Given the description of an element on the screen output the (x, y) to click on. 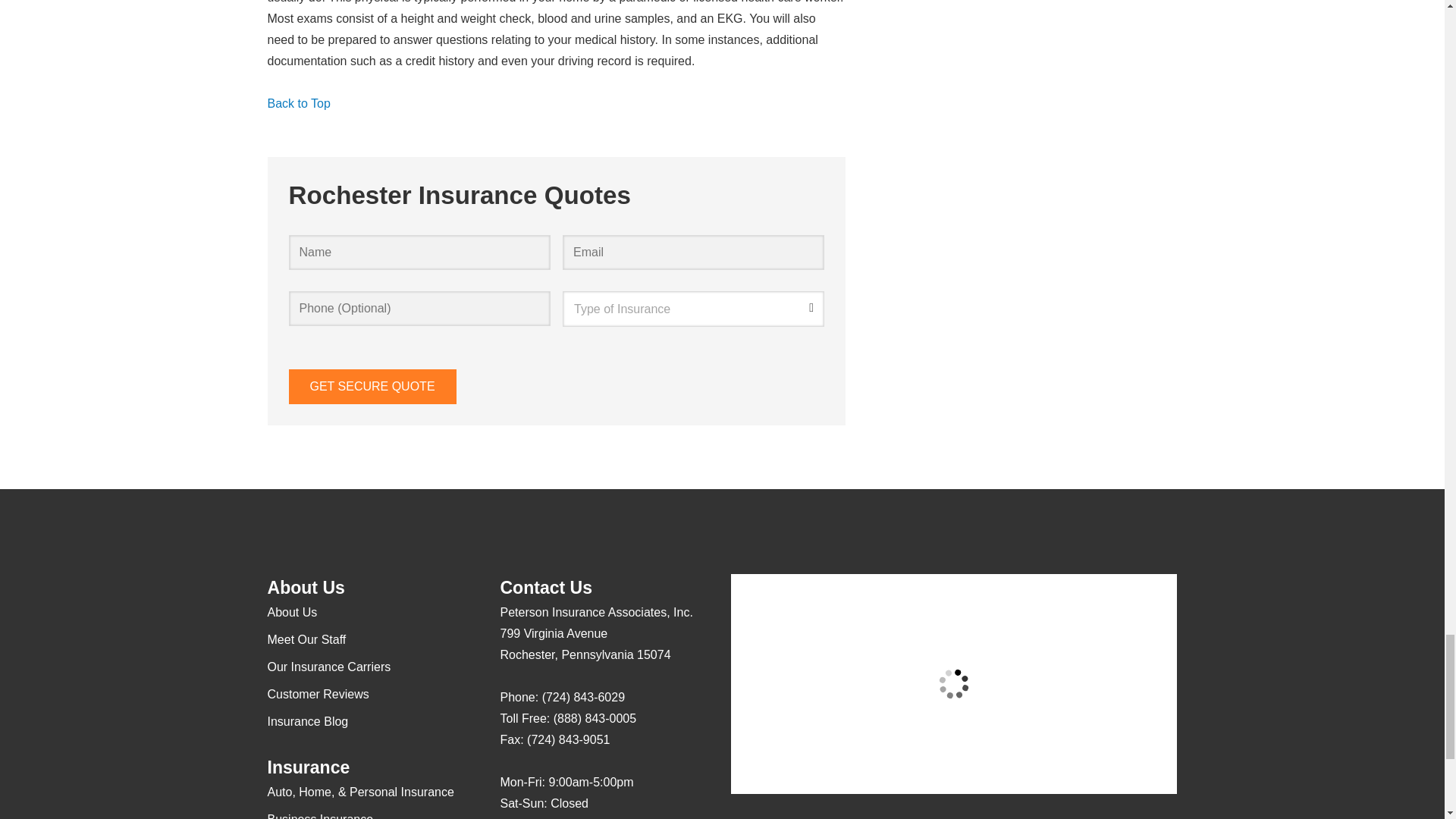
Get Secure Quote (371, 386)
